Given the description of an element on the screen output the (x, y) to click on. 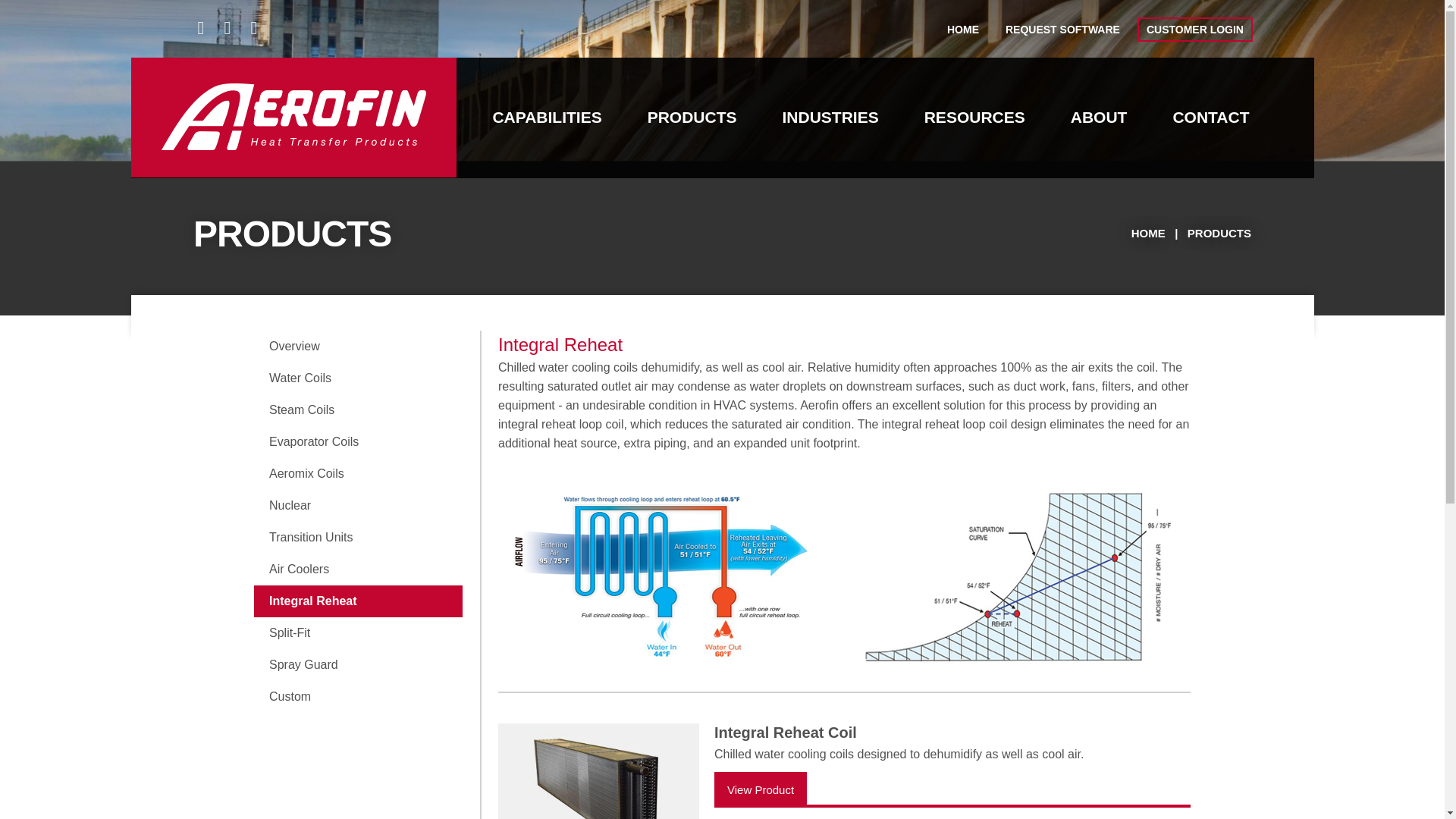
Integral Reheat Process (670, 572)
Integral Reheat Process (1011, 572)
